Given the description of an element on the screen output the (x, y) to click on. 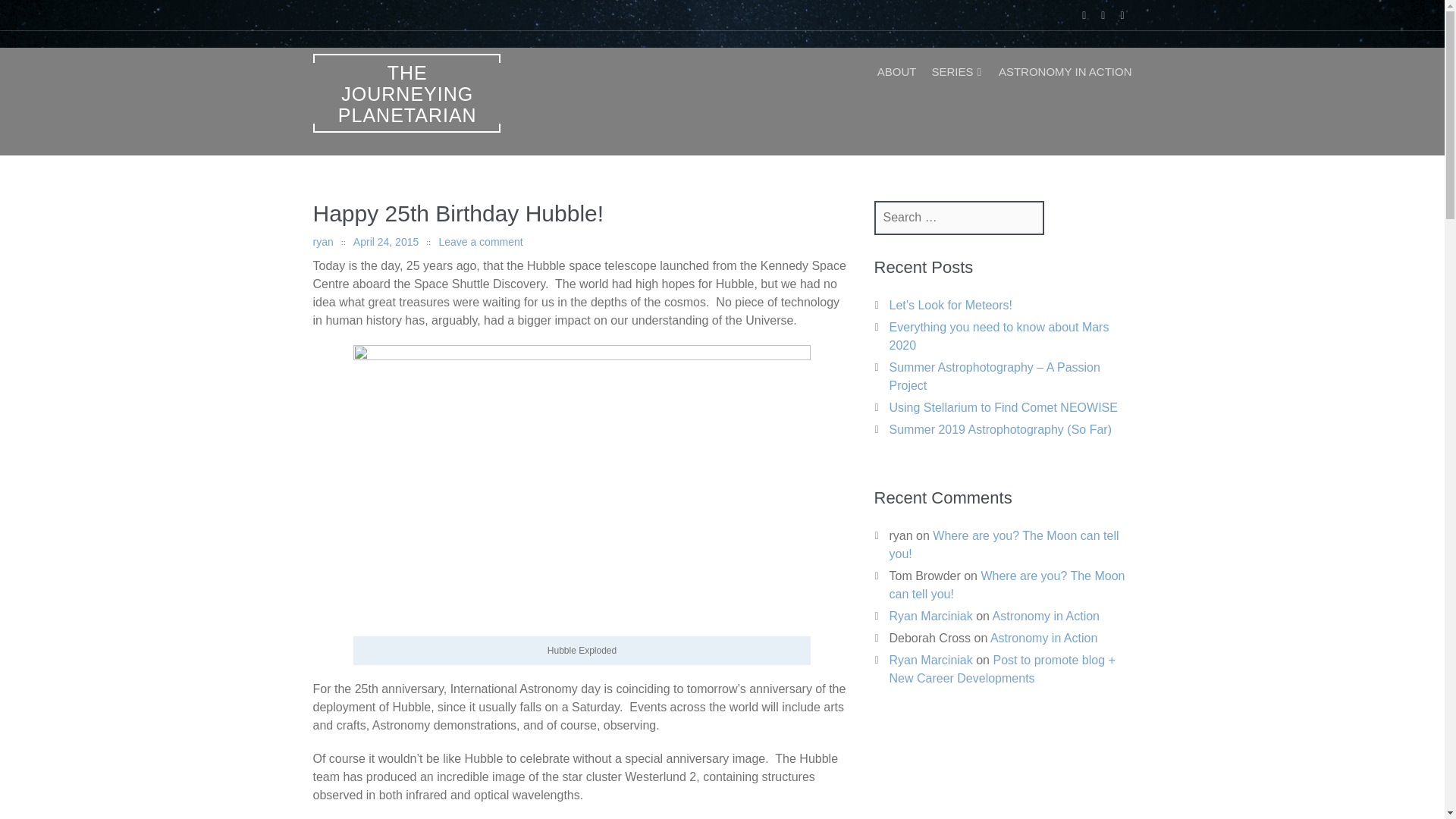
SERIES (957, 72)
ryan (323, 241)
Search (52, 17)
Leave a comment (480, 241)
ASTRONOMY IN ACTION (1065, 72)
THE JOURNEYING PLANETARIAN (406, 93)
April 24, 2015 (386, 241)
ABOUT (897, 72)
